Given the description of an element on the screen output the (x, y) to click on. 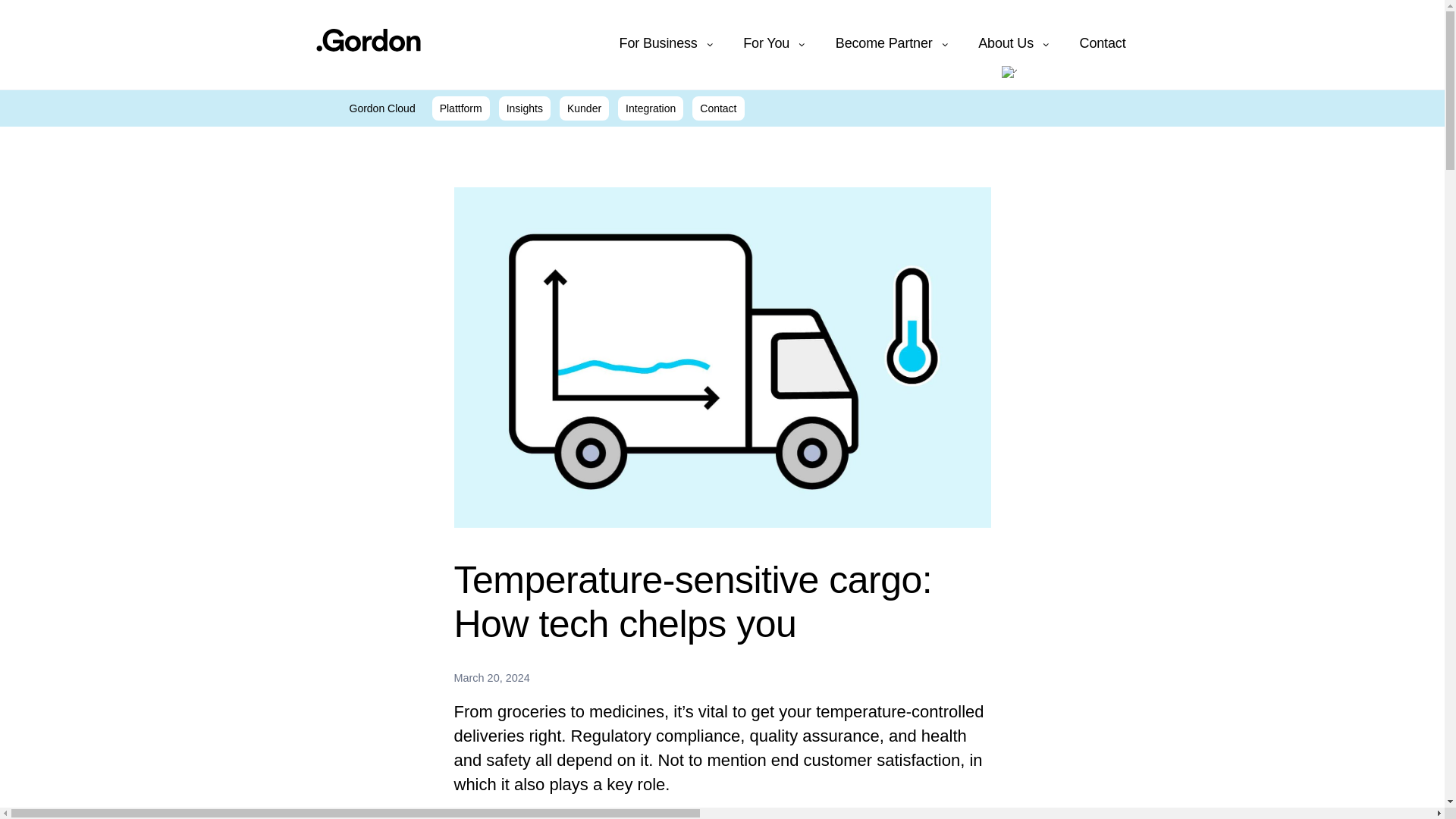
Gordon Cloud (366, 108)
Kunder (583, 108)
Contact (718, 108)
For You (774, 43)
Integration (649, 108)
Plattform (460, 108)
About Us (1013, 43)
Become Partner (892, 43)
Gordon (367, 39)
English (1017, 73)
English (1004, 73)
For Business (667, 43)
Insights (524, 108)
